Given the description of an element on the screen output the (x, y) to click on. 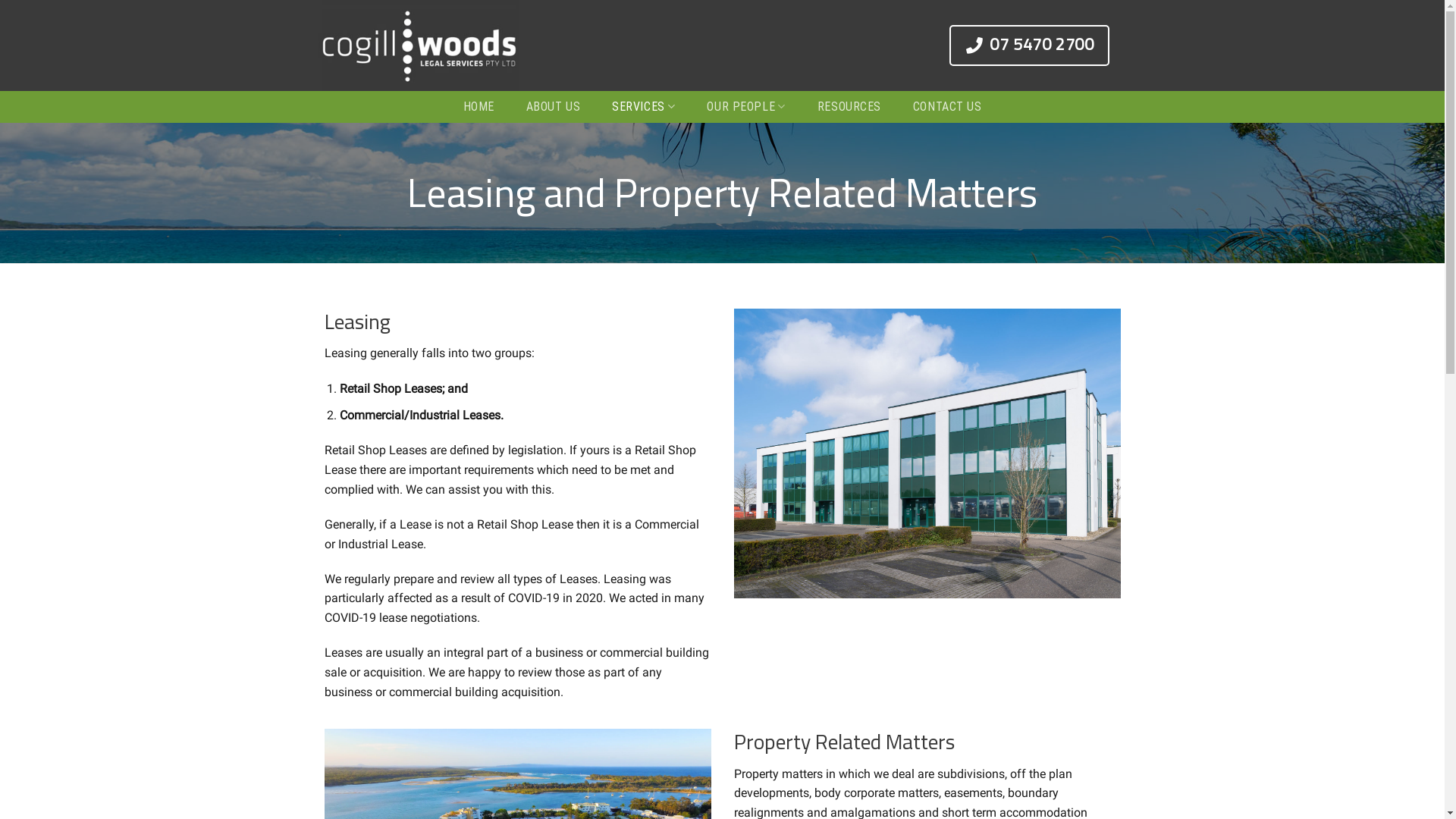
HOME Element type: text (477, 106)
OUR PEOPLE Element type: text (745, 106)
ABOUT US Element type: text (553, 106)
07 5470 2700 Element type: text (1037, 45)
Skip to content Element type: text (0, 0)
RESOURCES Element type: text (849, 106)
SERVICES Element type: text (642, 106)
Cogill Woods Legal Services - Sunshine Coast Lawyers Element type: hover (425, 45)
07 5470 2700 Element type: text (1029, 45)
CONTACT US Element type: text (947, 106)
